Given the description of an element on the screen output the (x, y) to click on. 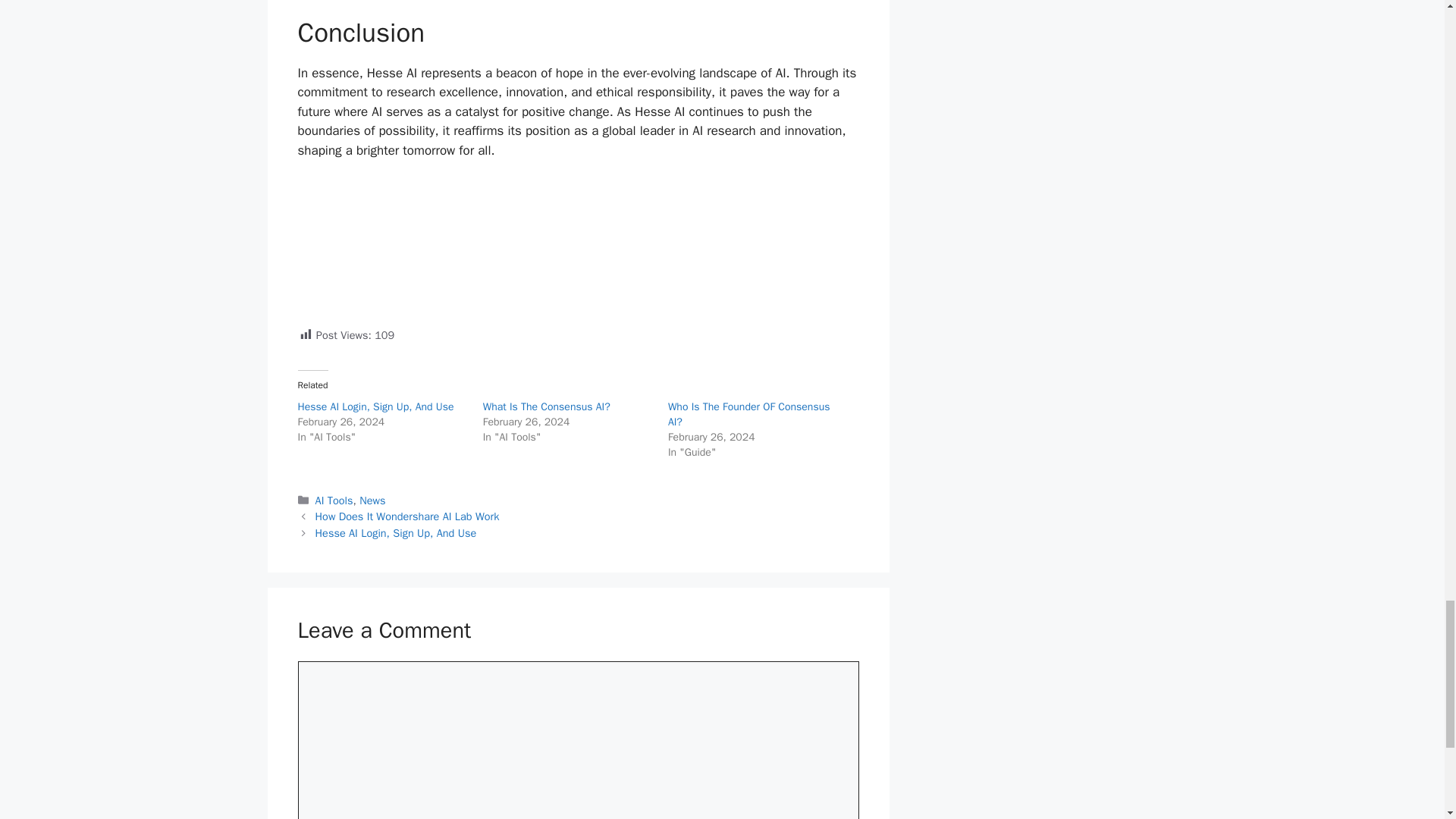
AI Tools (334, 499)
Who Is The Founder OF Consensus AI? (748, 414)
What Is The Consensus AI? (546, 406)
Hesse AI Login, Sign Up, And Use (374, 406)
